Given the description of an element on the screen output the (x, y) to click on. 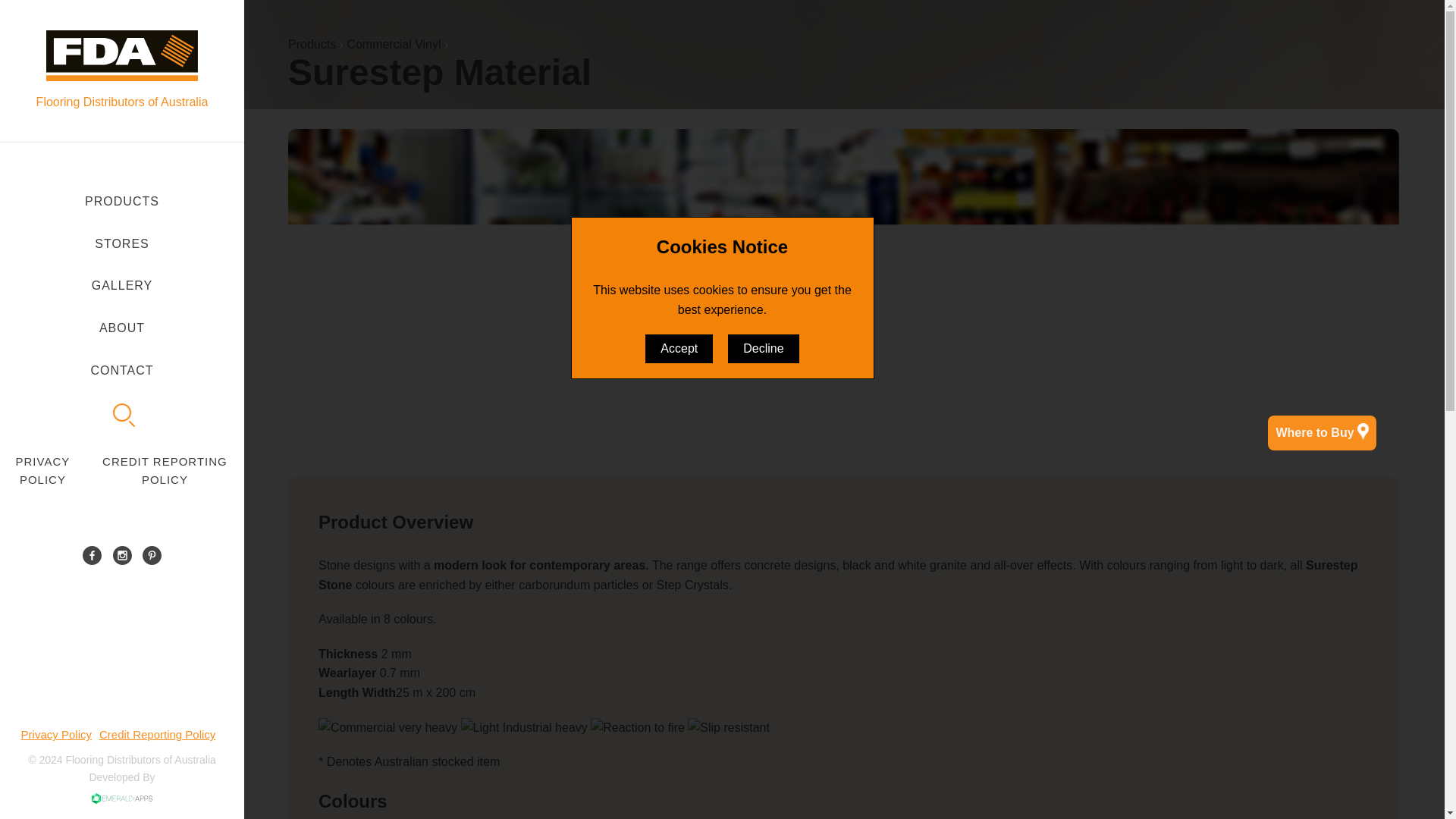
CREDIT REPORTING POLICY (164, 470)
CONTACT (122, 370)
Reaction to fire (637, 727)
Credit Reporting Policy (157, 734)
STORES (122, 243)
Decline (762, 348)
ABOUT (122, 328)
PRIVACY POLICY (42, 470)
Slip resistant (728, 727)
Accept (679, 348)
